Given the description of an element on the screen output the (x, y) to click on. 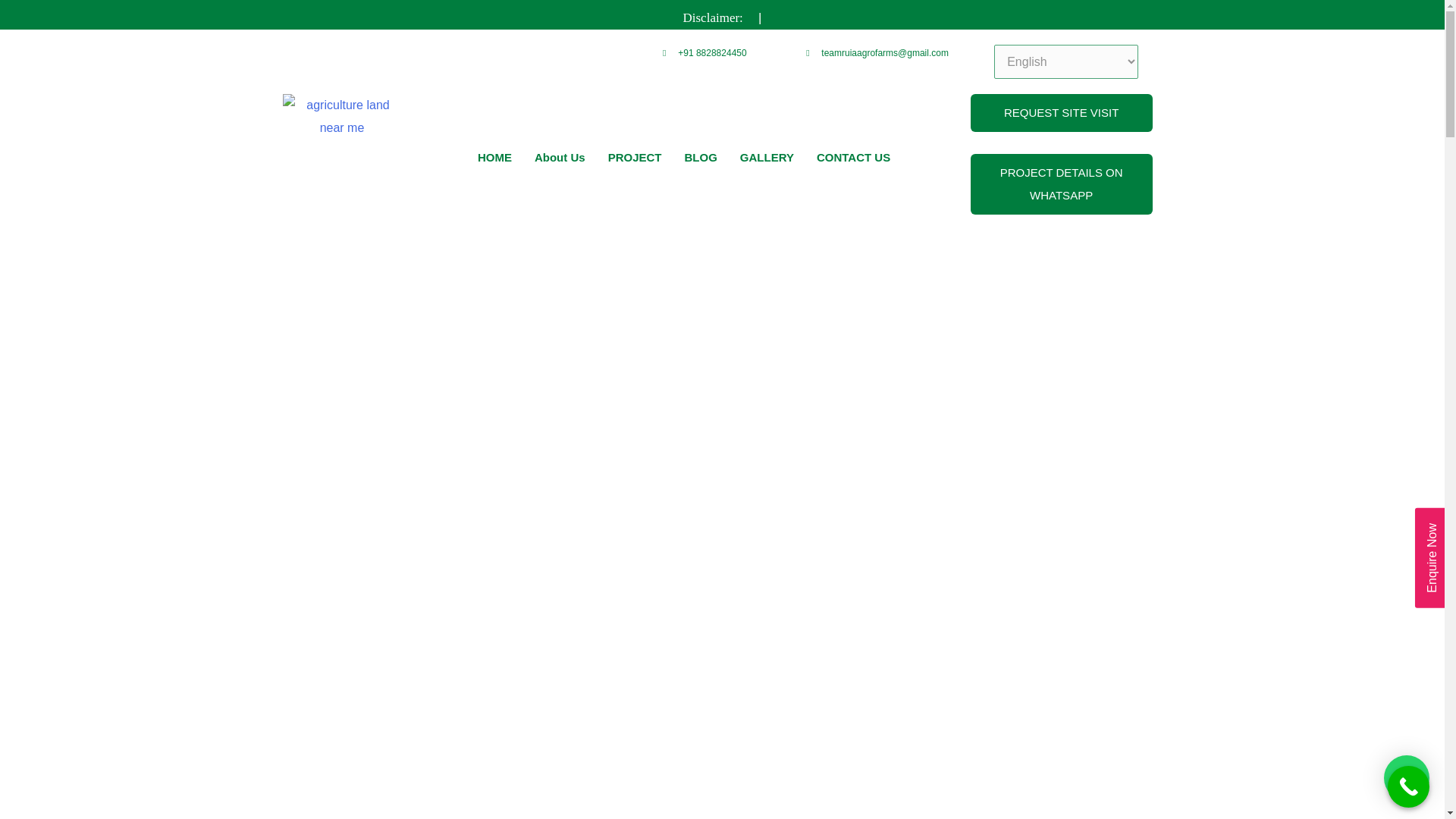
BLOG (700, 157)
REQUEST SITE VISIT (1062, 112)
About Us (559, 157)
PROJECT DETAILS ON WHATSAPP (1062, 183)
CONTACT US (853, 157)
PROJECT (634, 157)
GALLERY (767, 157)
HOME (493, 157)
